Given the description of an element on the screen output the (x, y) to click on. 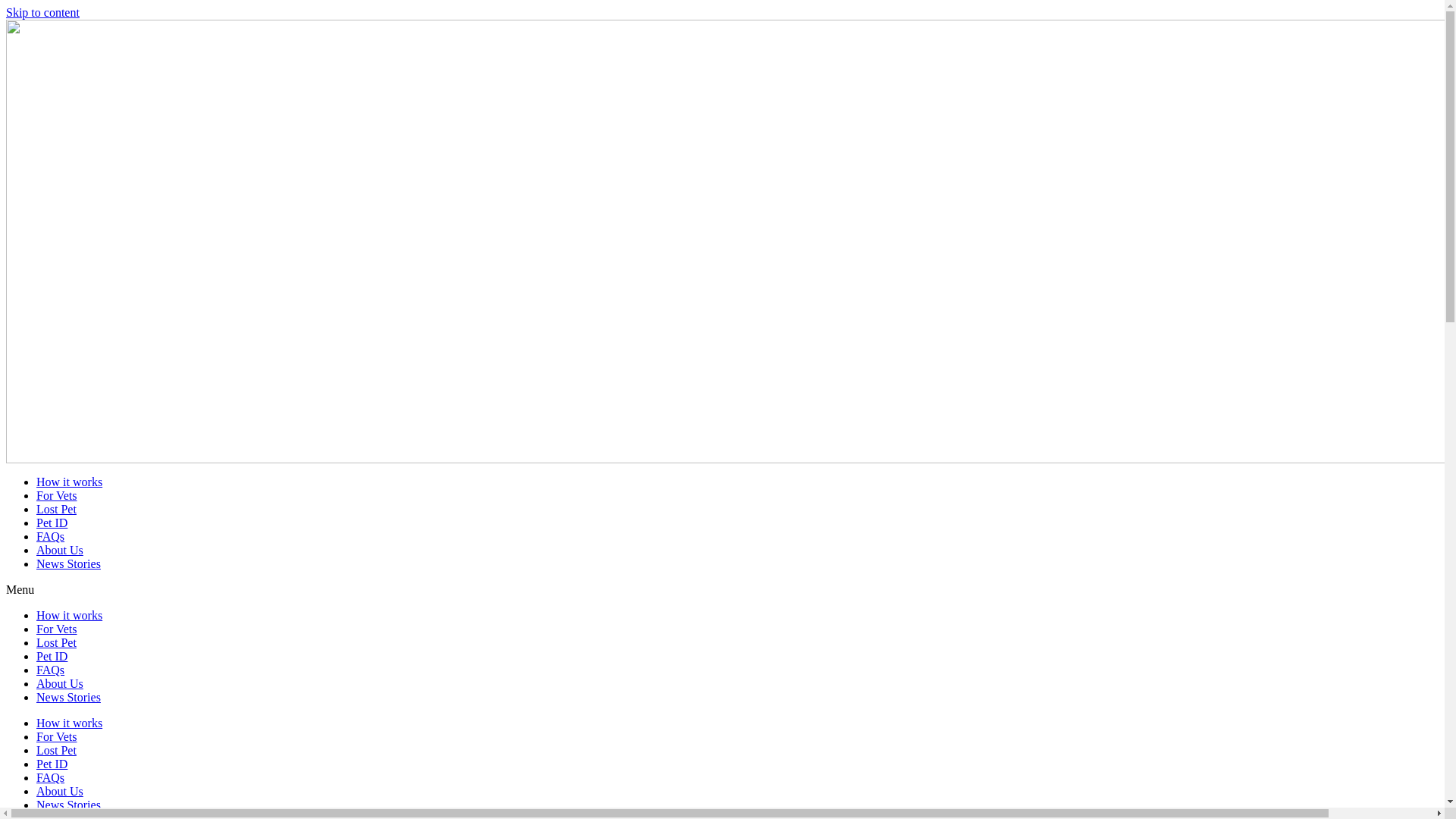
FAQs Element type: text (50, 669)
FAQs Element type: text (50, 777)
Pet ID Element type: text (51, 655)
News Stories Element type: text (68, 804)
Pet ID Element type: text (51, 763)
FAQs Element type: text (50, 536)
How it works Element type: text (69, 722)
About Us Element type: text (59, 683)
About Us Element type: text (59, 549)
News Stories Element type: text (68, 563)
For Vets Element type: text (56, 736)
News Stories Element type: text (68, 696)
How it works Element type: text (69, 481)
Pet ID Element type: text (51, 522)
Skip to content Element type: text (42, 12)
About Us Element type: text (59, 790)
How it works Element type: text (69, 614)
For Vets Element type: text (56, 495)
For Vets Element type: text (56, 628)
Lost Pet Element type: text (56, 749)
Lost Pet Element type: text (56, 642)
Lost Pet Element type: text (56, 508)
